Given the description of an element on the screen output the (x, y) to click on. 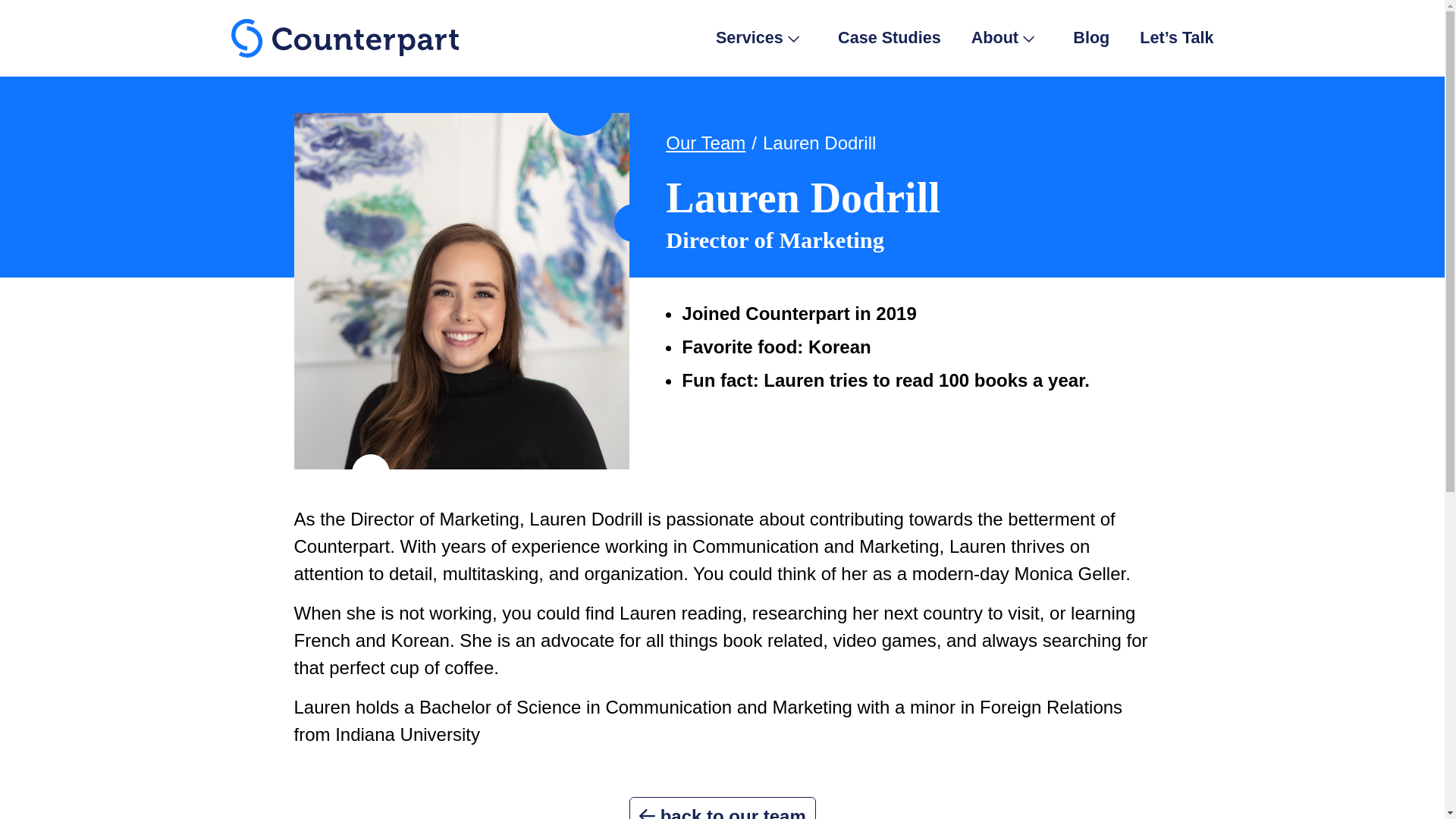
About (1003, 37)
Case Studies (889, 37)
Blog (1091, 37)
Services (757, 37)
